Given the description of an element on the screen output the (x, y) to click on. 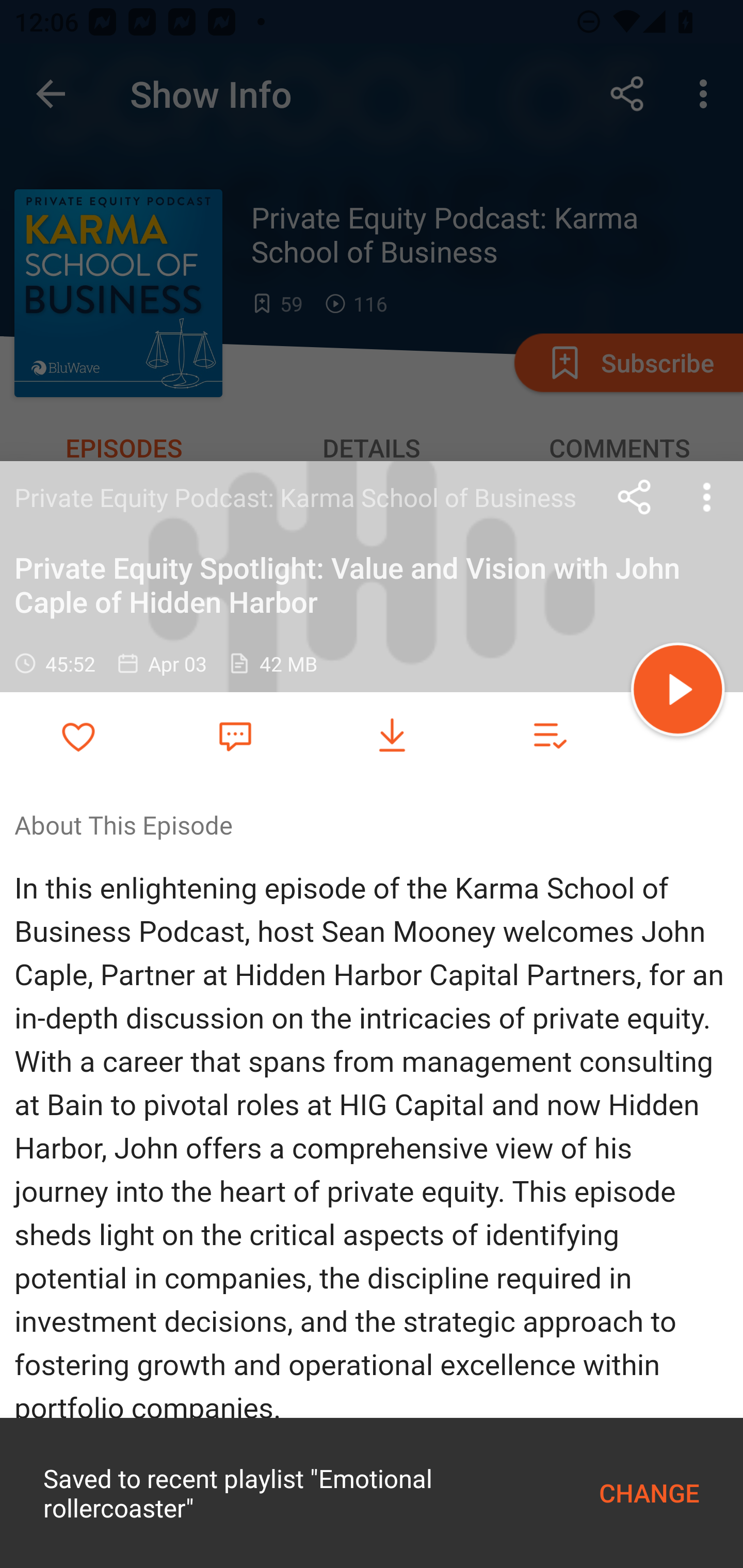
Share (634, 496)
more options (706, 496)
Play (677, 692)
Favorite (234, 735)
Add to Favorites (78, 735)
Download (391, 735)
Add to playlist (548, 735)
CHANGE (648, 1492)
